Given the description of an element on the screen output the (x, y) to click on. 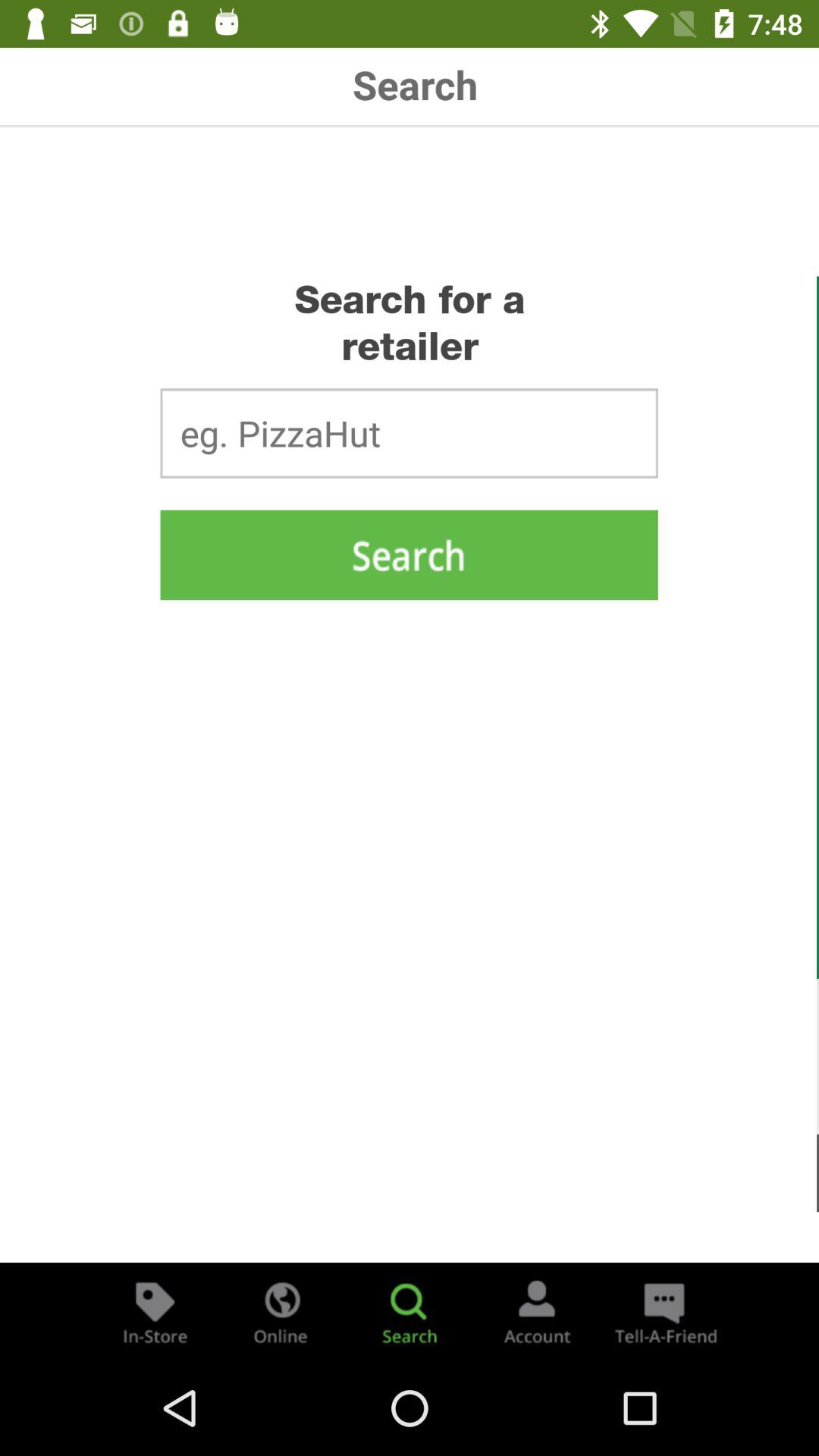
eg.pizzahut (409, 433)
